Given the description of an element on the screen output the (x, y) to click on. 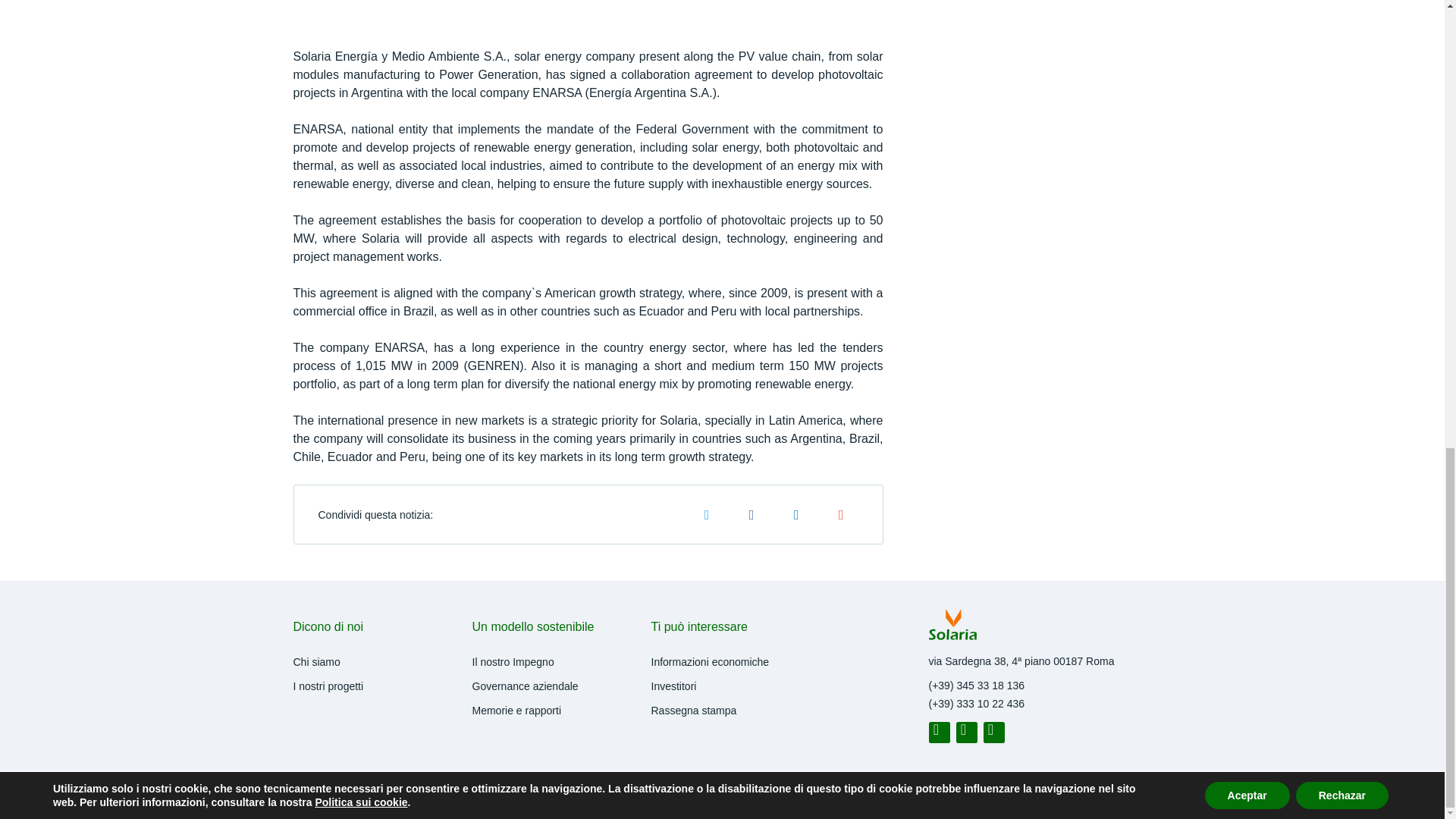
I nostri progetti (327, 686)
Chi siamo (315, 662)
Il nostro Impegno (512, 662)
